Given the description of an element on the screen output the (x, y) to click on. 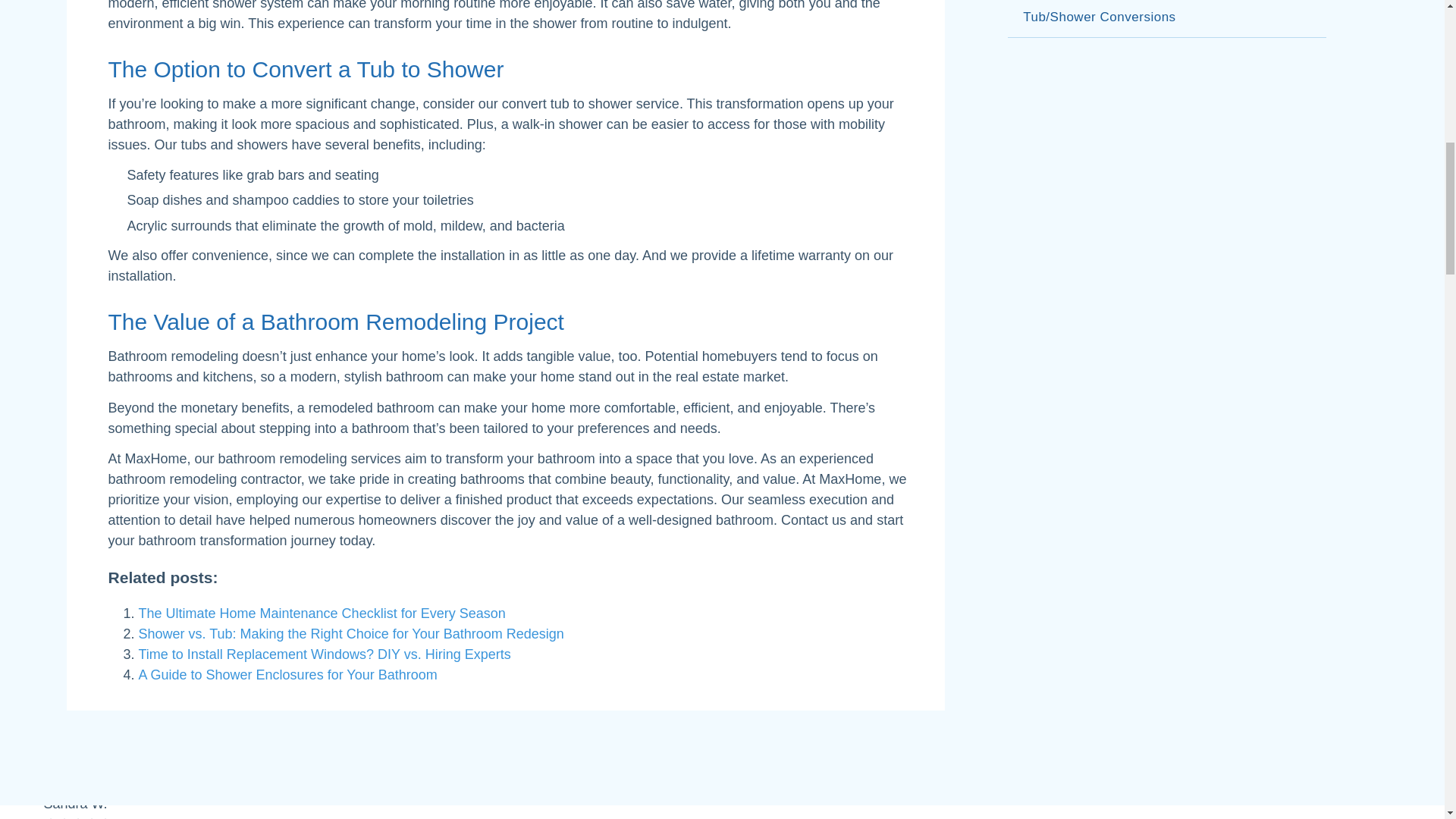
Time to Install Replacement Windows? DIY vs. Hiring Experts (324, 654)
A Guide to Shower Enclosures for Your Bathroom (287, 674)
The Ultimate Home Maintenance Checklist for Every Season (321, 613)
